Given the description of an element on the screen output the (x, y) to click on. 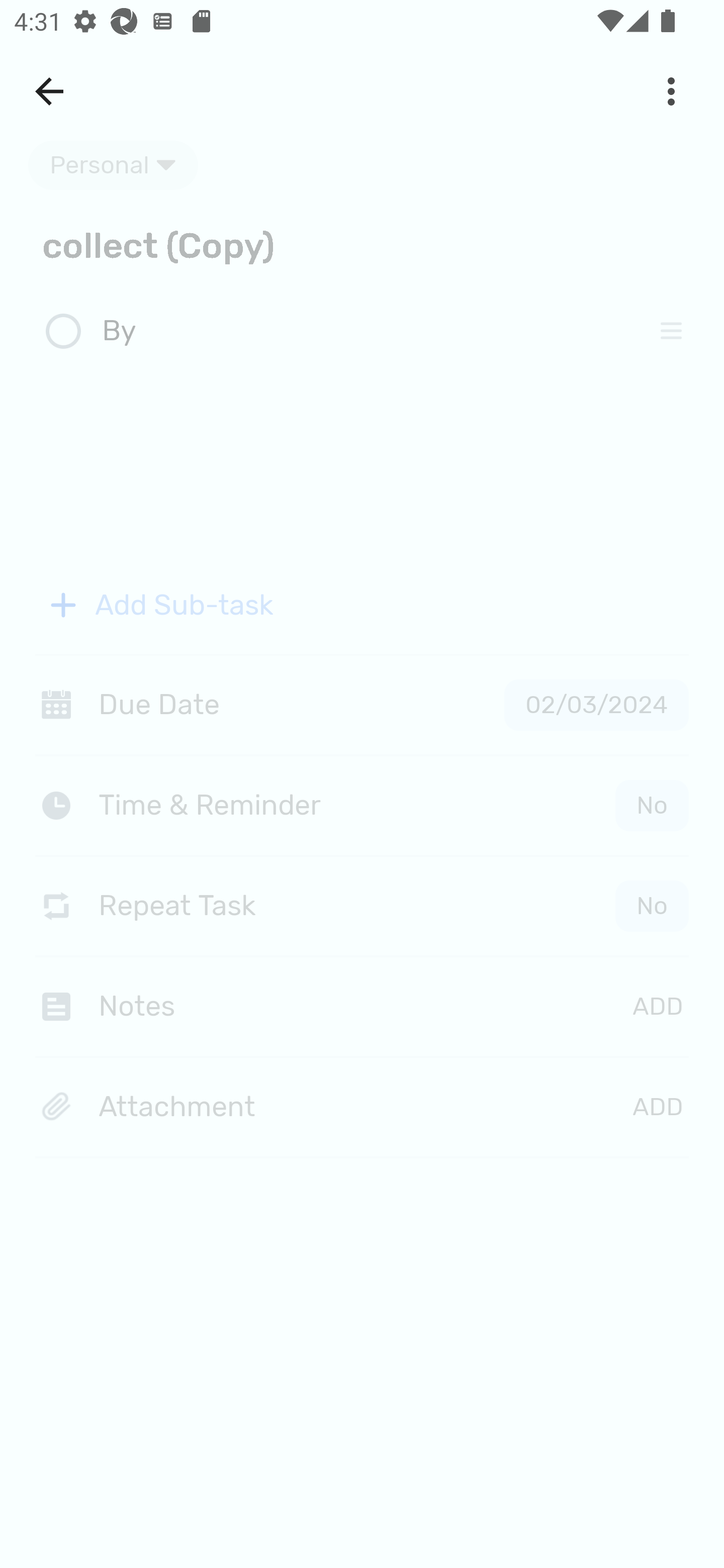
Personal (113, 165)
collect (Copy) (362, 244)
By (366, 331)
Add Sub-task (362, 604)
Due Date 02/03/2024 (362, 704)
Time & Reminder No (365, 804)
Repeat Task No (362, 905)
Notes ADD (362, 1006)
Attachment ADD (362, 1107)
